Given the description of an element on the screen output the (x, y) to click on. 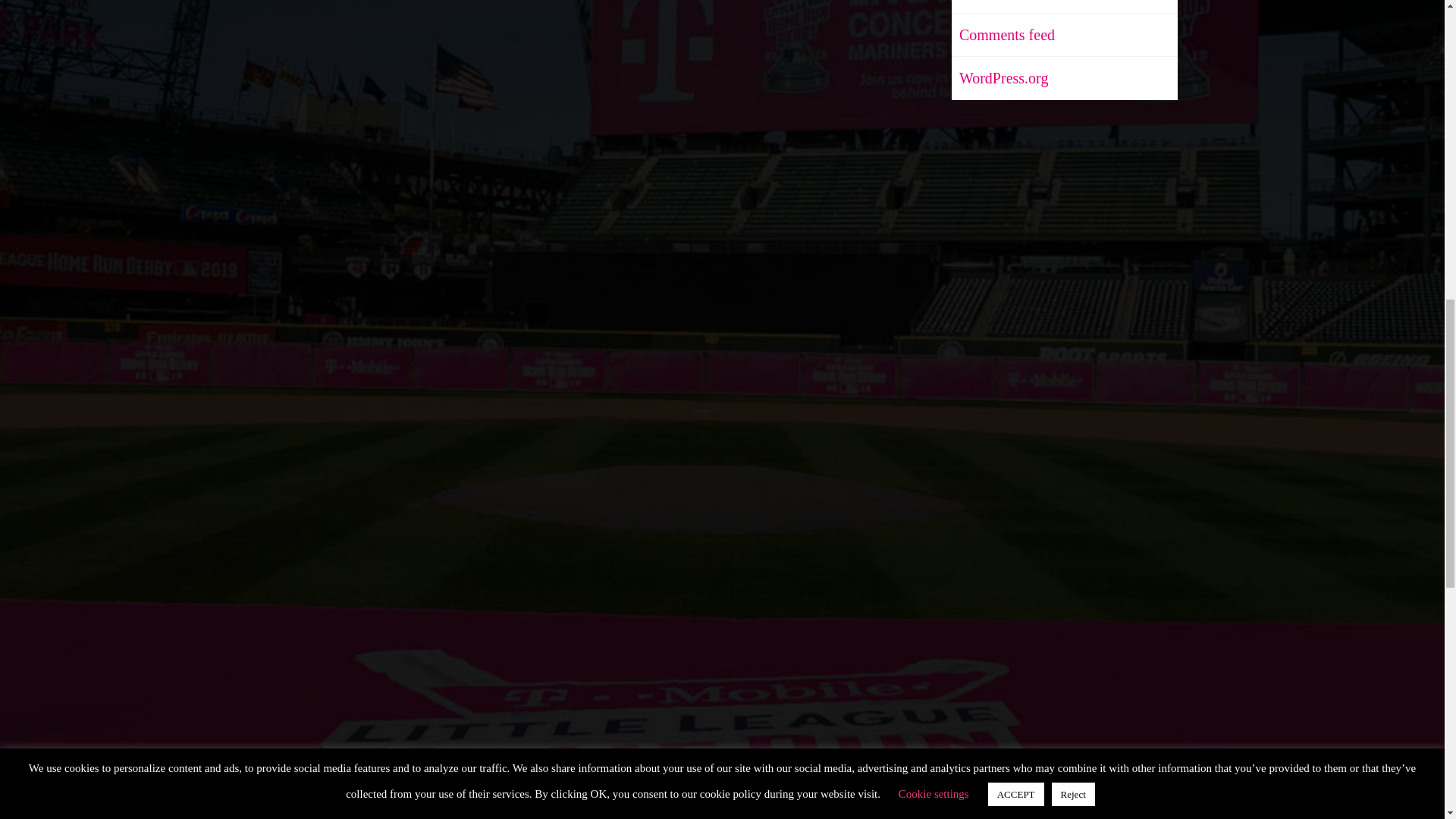
WordPress.org (1000, 77)
Comments feed (1003, 34)
